Given the description of an element on the screen output the (x, y) to click on. 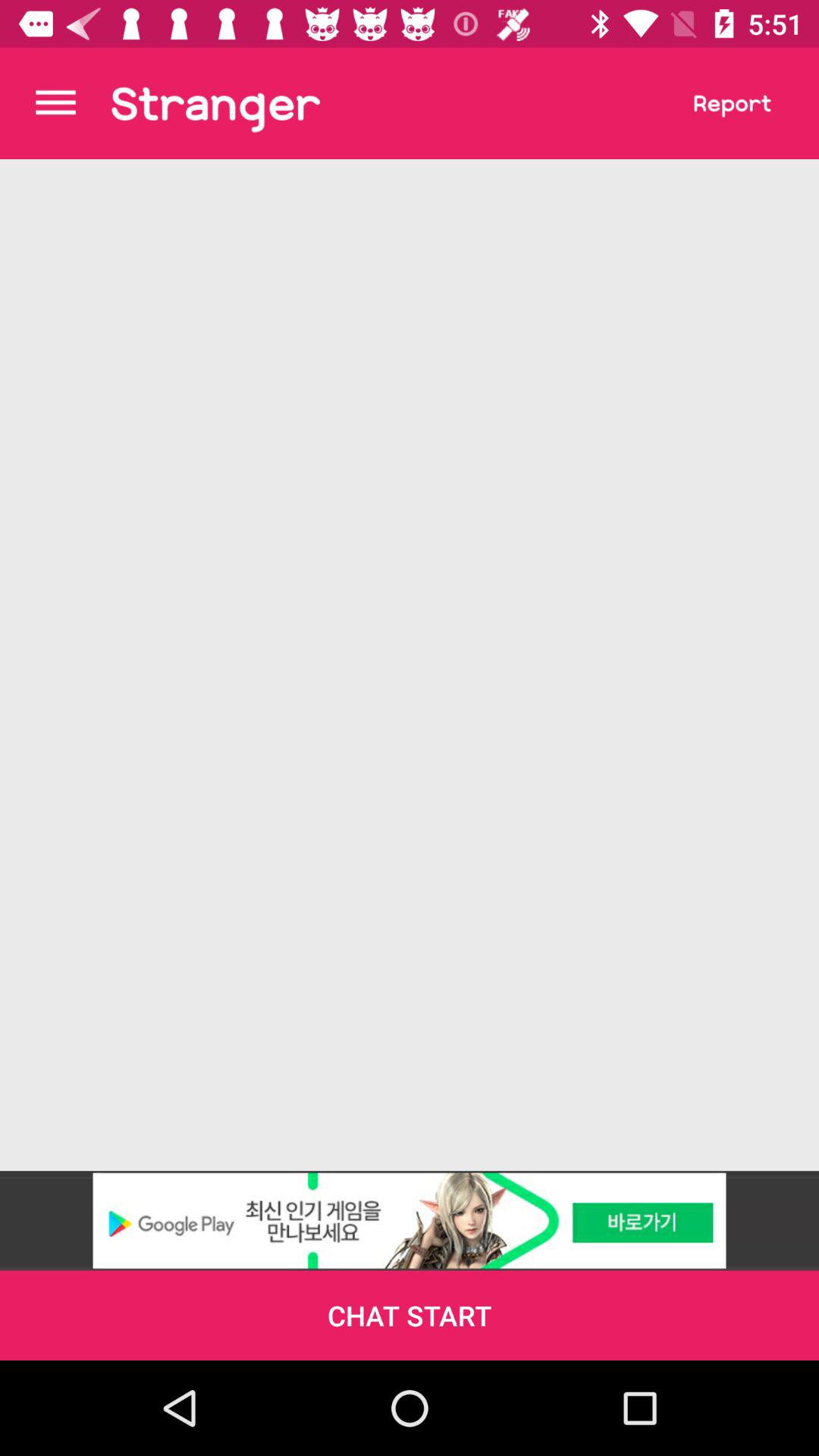
go to menu (55, 103)
